Given the description of an element on the screen output the (x, y) to click on. 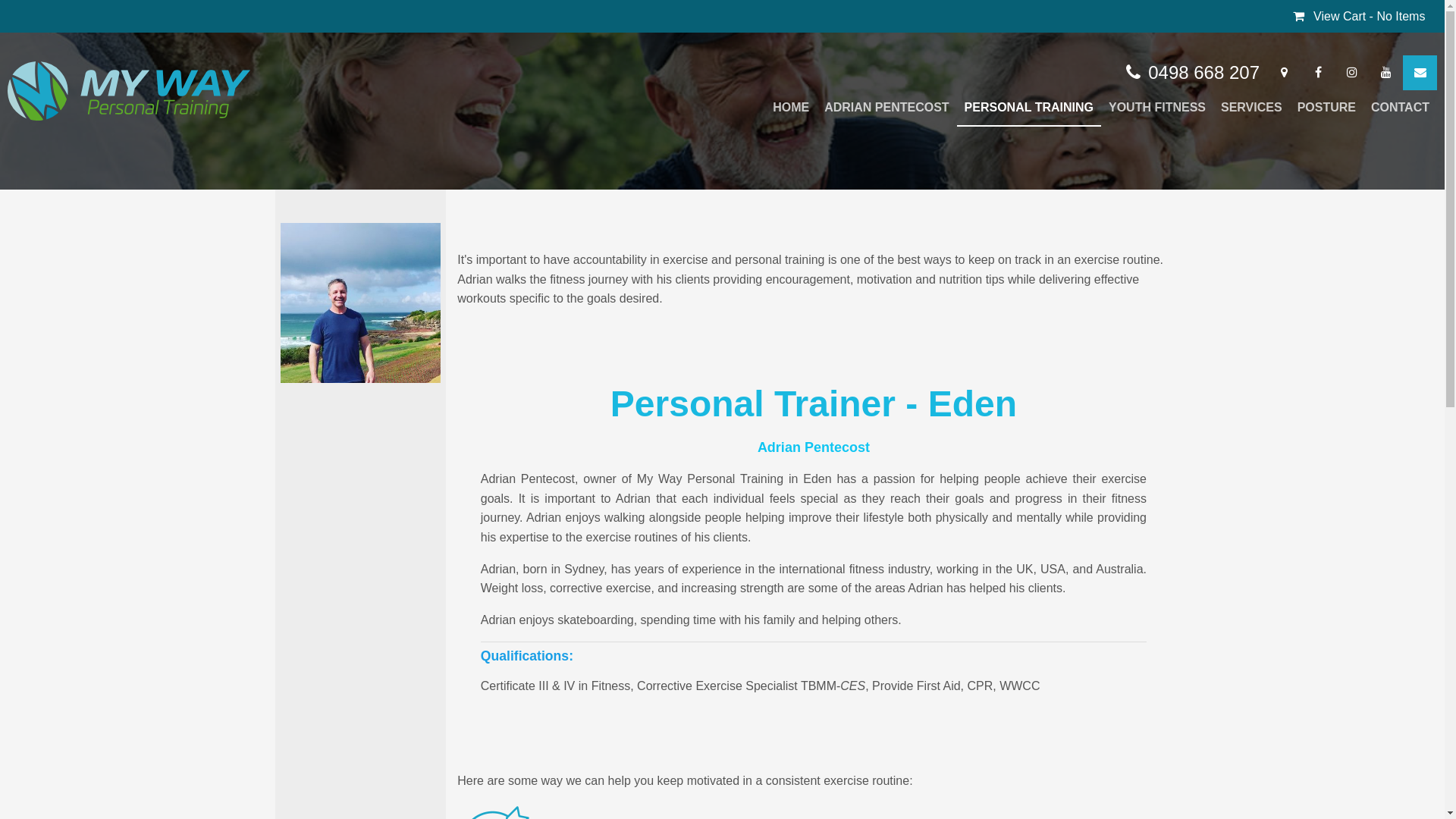
0498 668 207 Element type: text (1192, 72)
SERVICES Element type: text (1251, 108)
HOME Element type: text (790, 108)
View Cart - No Items Element type: text (1358, 16)
PERSONAL TRAINING Element type: text (1029, 108)
YOUTH FITNESS Element type: text (1157, 108)
POSTURE Element type: text (1326, 108)
CONTACT Element type: text (1400, 108)
ADRIAN PENTECOST Element type: text (886, 108)
